Given the description of an element on the screen output the (x, y) to click on. 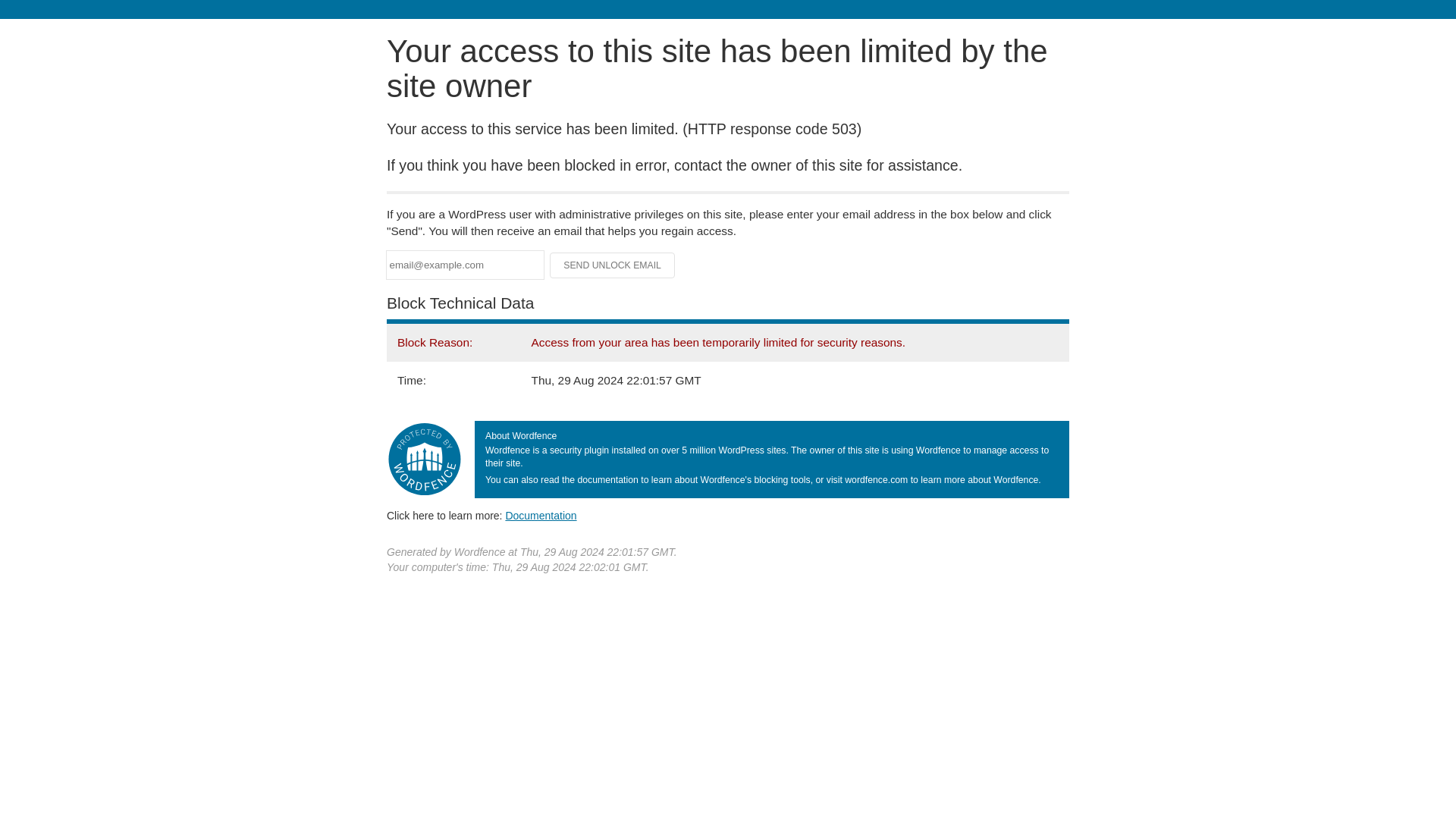
Documentation (540, 515)
Send Unlock Email (612, 265)
Send Unlock Email (612, 265)
